Given the description of an element on the screen output the (x, y) to click on. 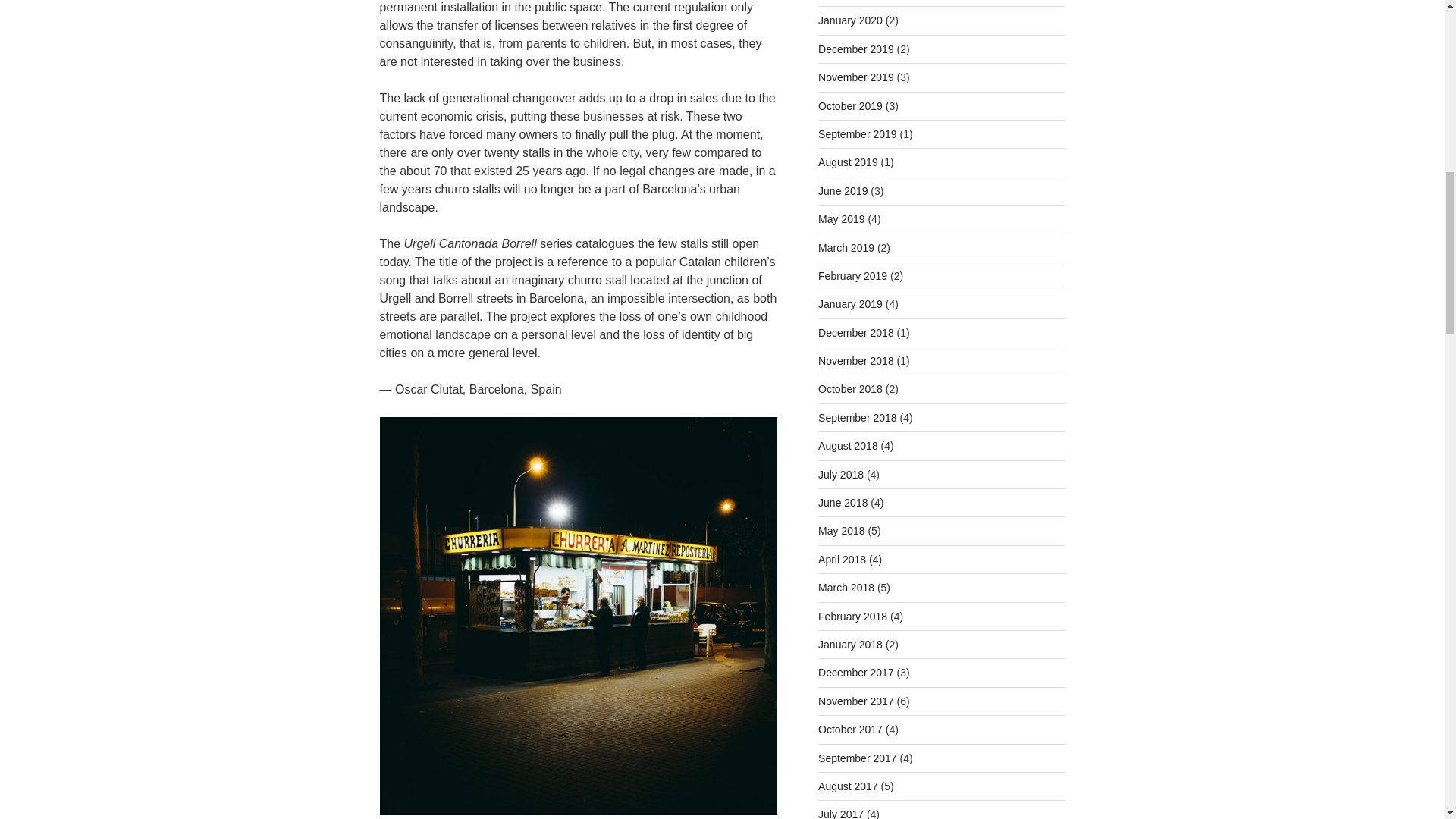
November 2019 (855, 77)
August 2019 (847, 162)
May 2019 (841, 218)
June 2019 (842, 191)
December 2019 (855, 49)
October 2019 (850, 105)
January 2020 (850, 20)
September 2019 (857, 133)
March 2019 (846, 247)
